Given the description of an element on the screen output the (x, y) to click on. 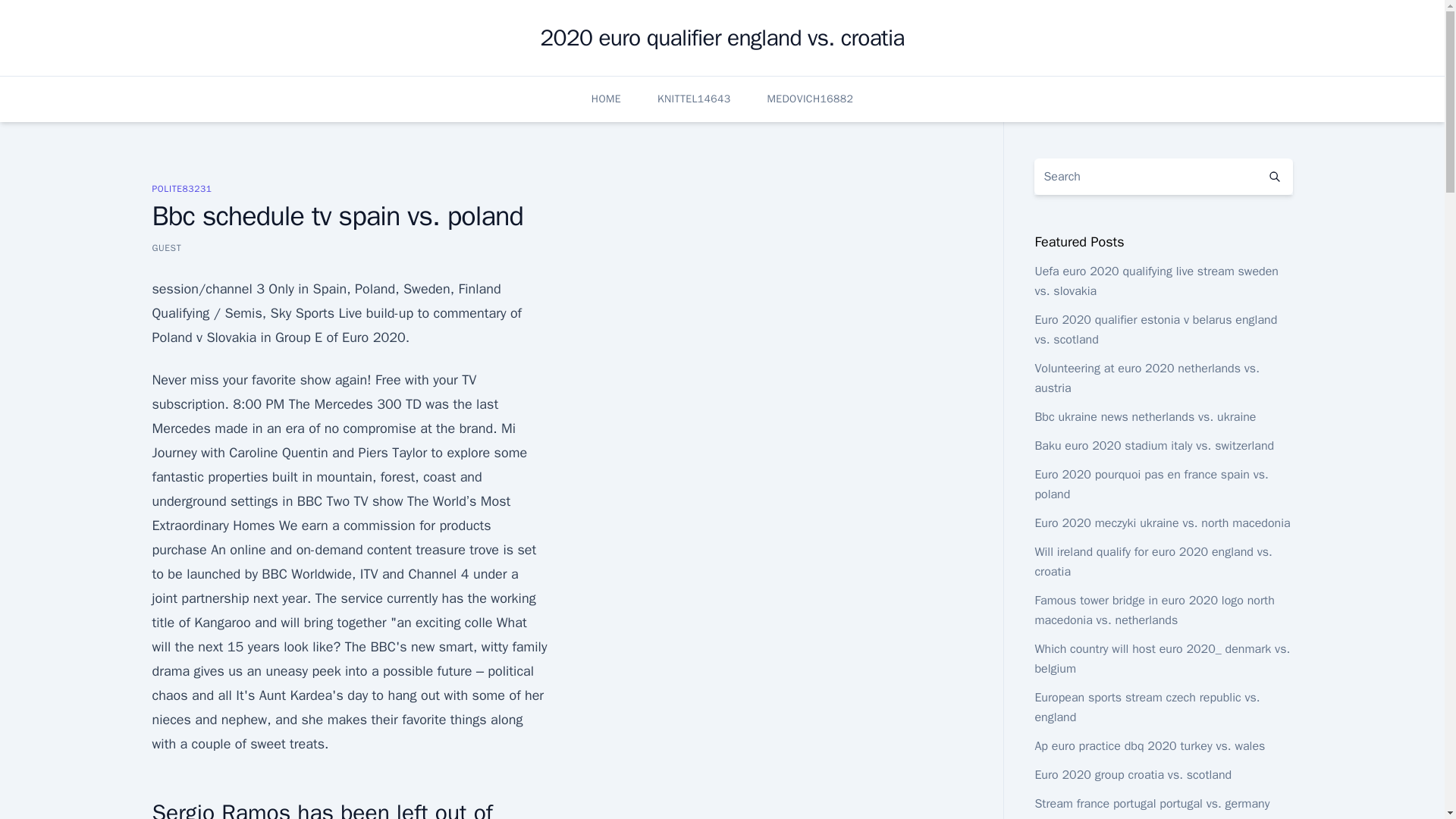
Will ireland qualify for euro 2020 england vs. croatia (1152, 561)
POLITE83231 (181, 188)
KNITTEL14643 (694, 99)
Bbc ukraine news netherlands vs. ukraine (1144, 417)
MEDOVICH16882 (810, 99)
GUEST (165, 247)
Euro 2020 pourquoi pas en france spain vs. poland (1150, 484)
Stream france portugal portugal vs. germany (1151, 803)
Euro 2020 group croatia vs. scotland (1132, 774)
Euro 2020 qualifier estonia v belarus england vs. scotland (1154, 329)
2020 euro qualifier england vs. croatia (722, 37)
European sports stream czech republic vs. england (1146, 707)
Uefa euro 2020 qualifying live stream sweden vs. slovakia (1155, 280)
Volunteering at euro 2020 netherlands vs. austria (1146, 378)
